Given the description of an element on the screen output the (x, y) to click on. 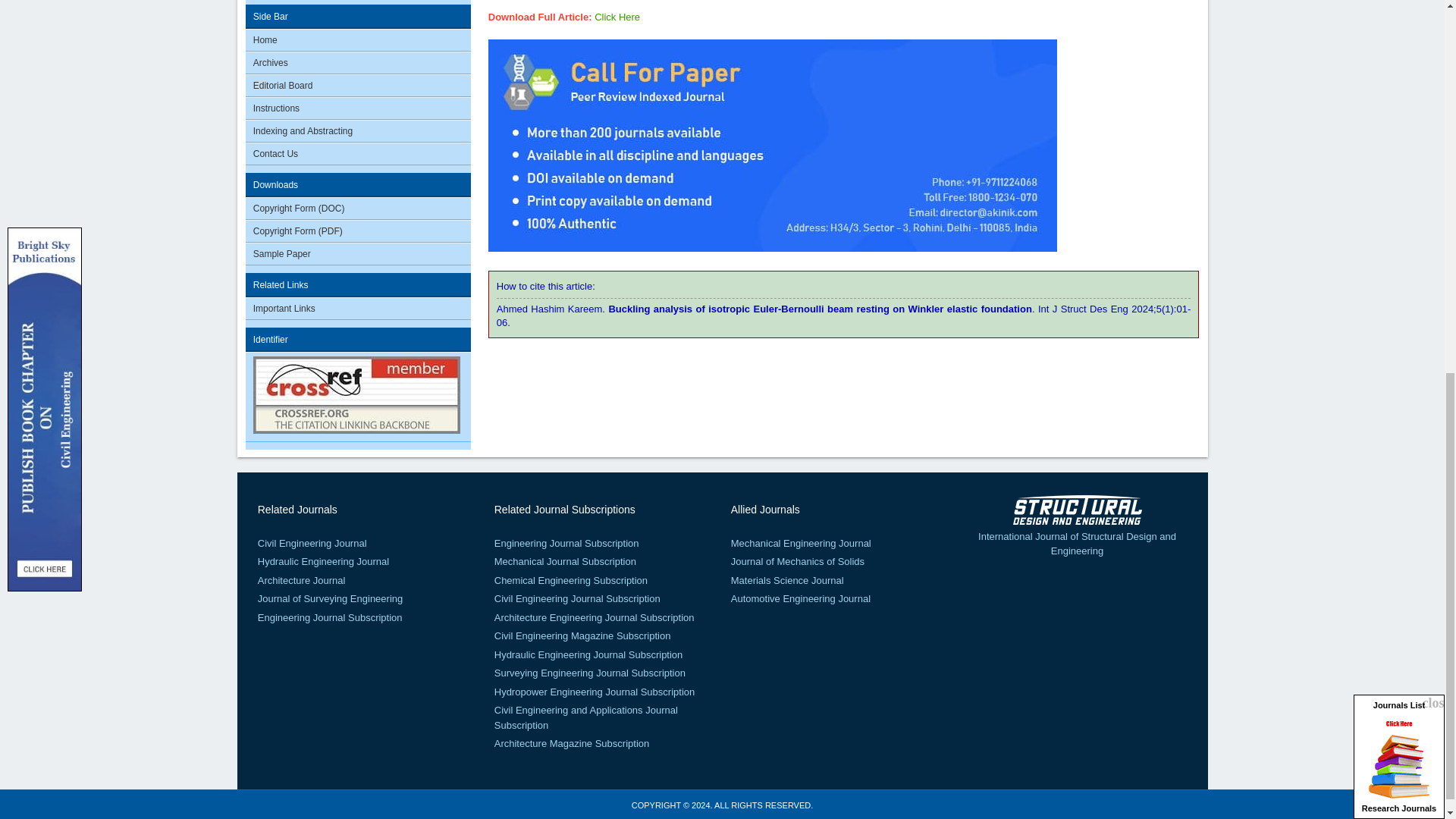
Click Here (617, 16)
Home (358, 39)
Indexing and Abstracting (358, 130)
Editorial Board (358, 85)
Sample Paper (358, 253)
Archives (358, 62)
Important Links (358, 308)
Instructions (358, 107)
Contact Us (358, 153)
